Given the description of an element on the screen output the (x, y) to click on. 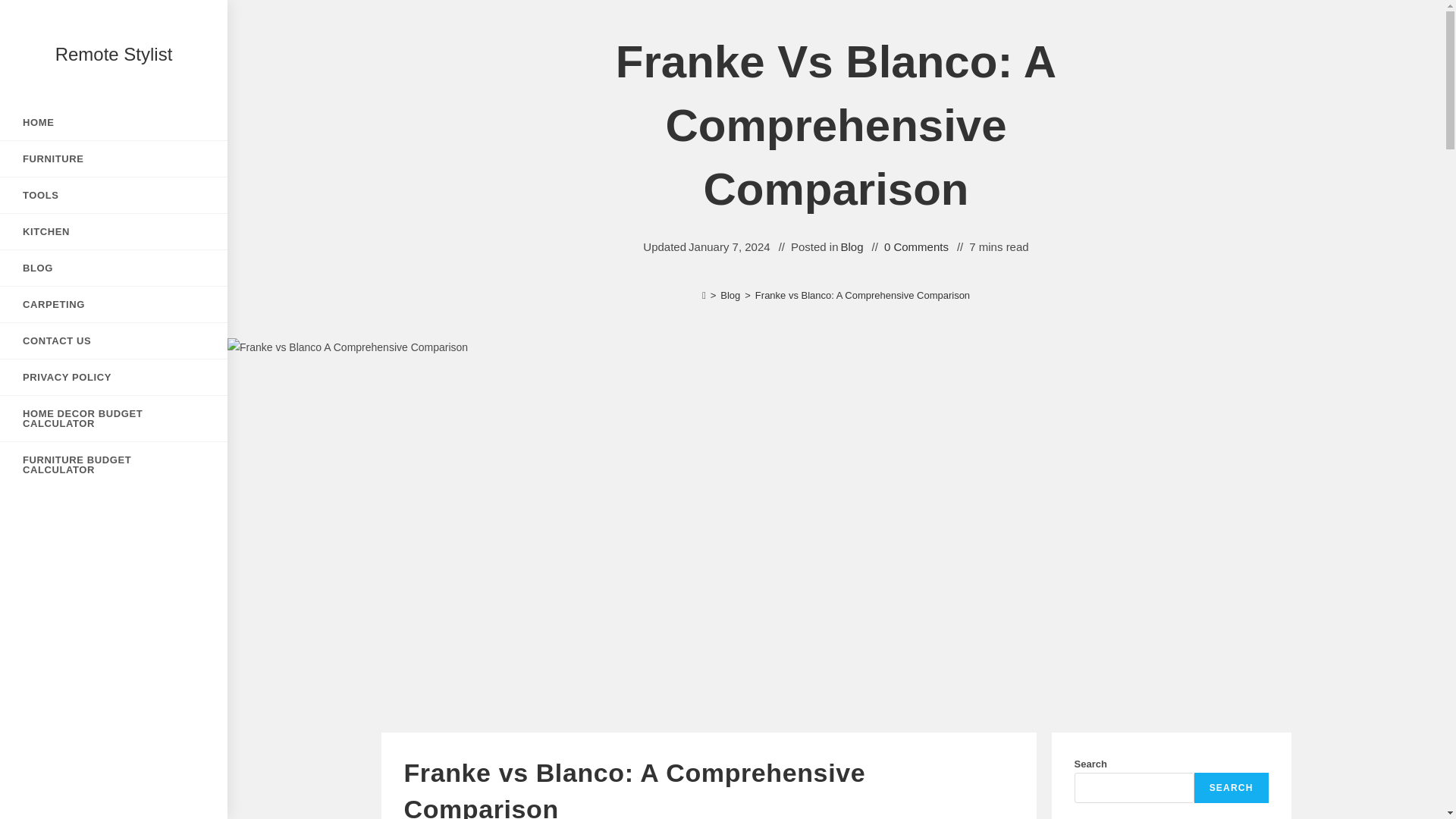
HOME (113, 122)
Remote Stylist (114, 54)
CONTACT US (113, 340)
HOME DECOR BUDGET CALCULATOR (113, 418)
FURNITURE (113, 158)
FURNITURE BUDGET CALCULATOR (113, 464)
0 Comments (916, 246)
Blog (852, 246)
Blog (729, 295)
PRIVACY POLICY (113, 376)
CARPETING (113, 304)
BLOG (113, 267)
TOOLS (113, 194)
Franke vs Blanco: A Comprehensive Comparison (862, 295)
